Given the description of an element on the screen output the (x, y) to click on. 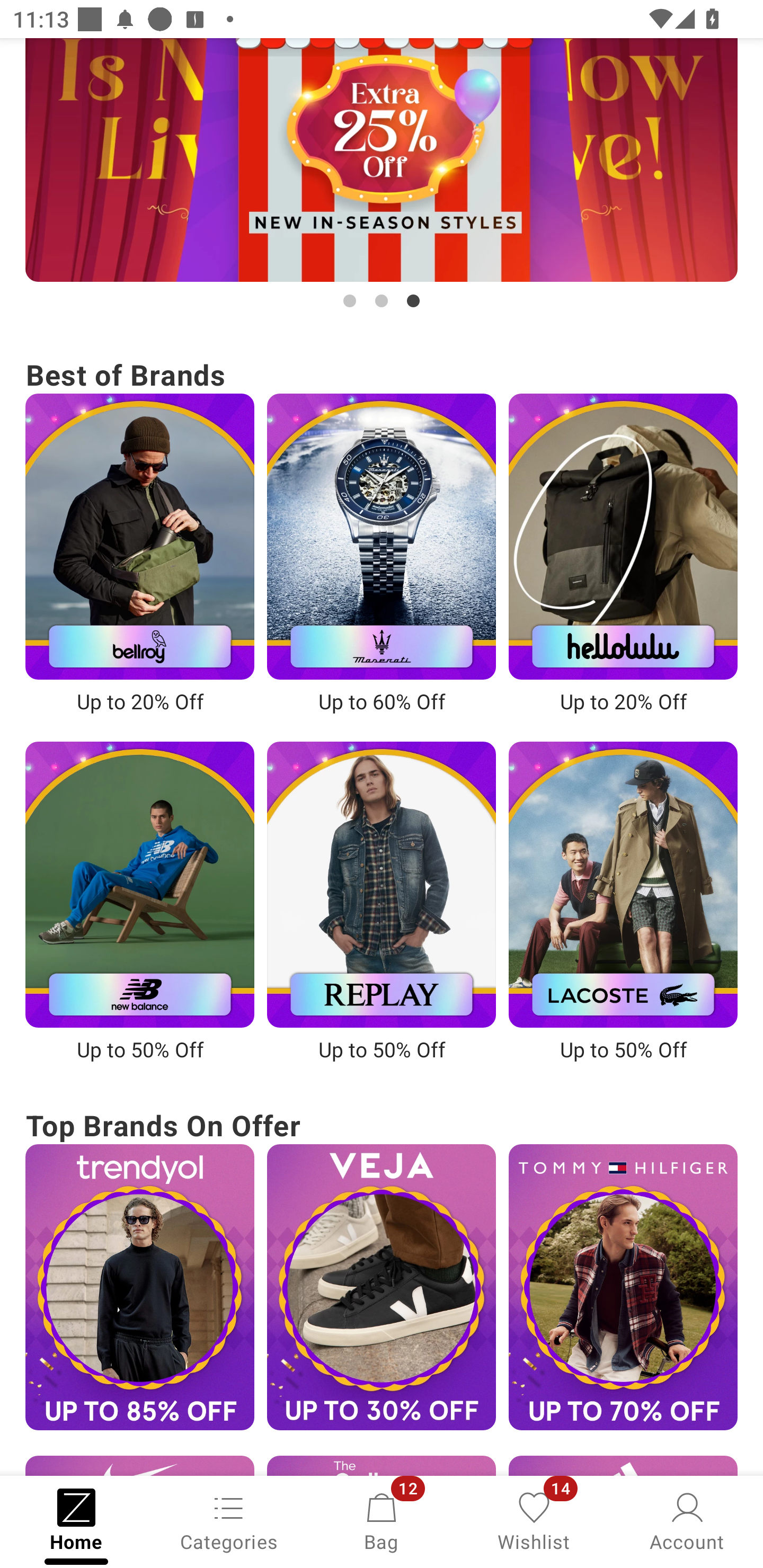
Campaign banner (381, 159)
Campaign banner (139, 535)
Campaign banner (381, 535)
Campaign banner (622, 535)
Campaign banner (139, 884)
Campaign banner (381, 884)
Campaign banner (622, 884)
Campaign banner (139, 1287)
Campaign banner (381, 1287)
Campaign banner (622, 1287)
Categories (228, 1519)
Bag, 12 new notifications Bag (381, 1519)
Wishlist, 14 new notifications Wishlist (533, 1519)
Account (686, 1519)
